Given the description of an element on the screen output the (x, y) to click on. 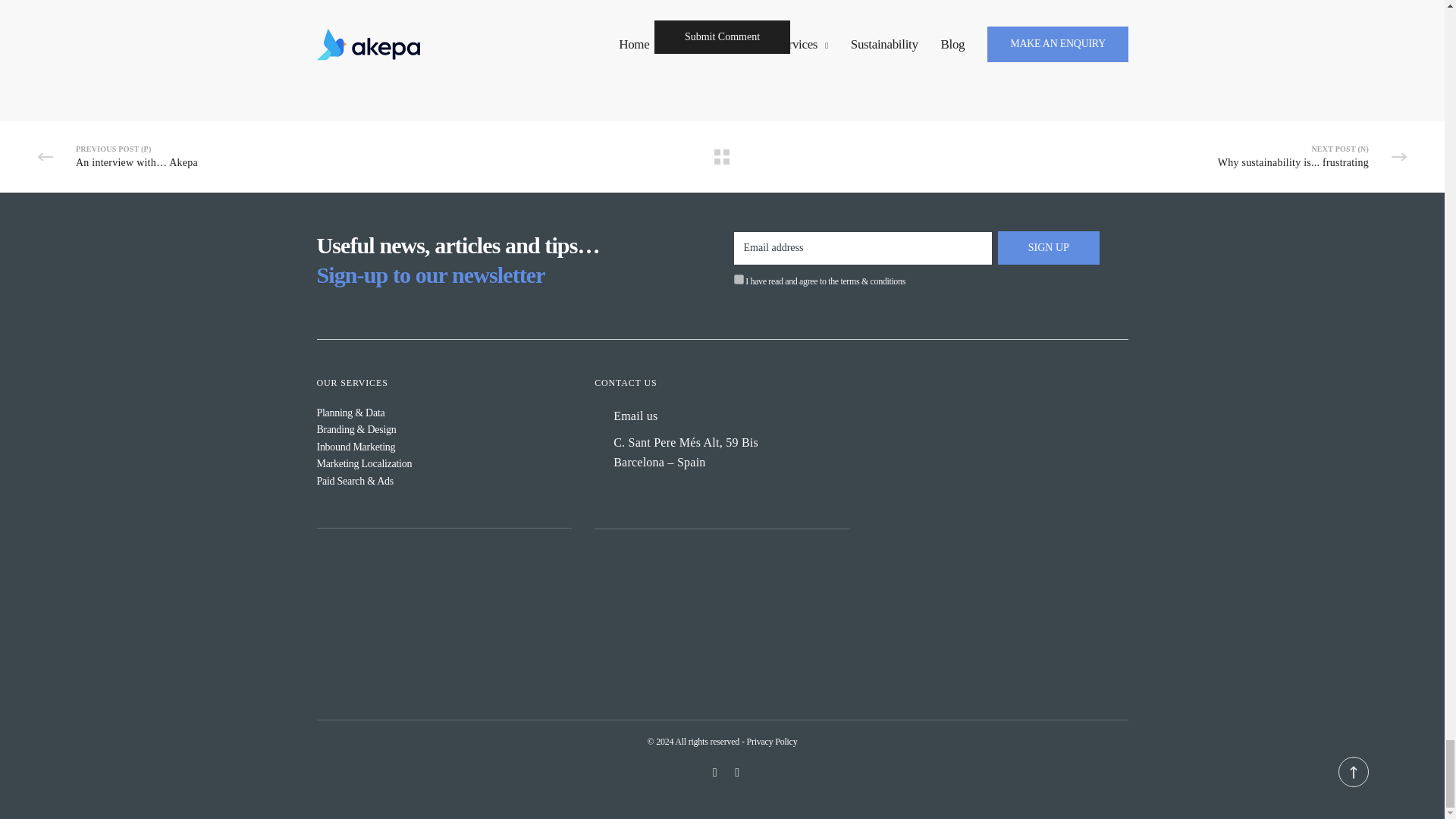
SIGN UP (1048, 247)
1 (738, 279)
Submit Comment (721, 37)
